Given the description of an element on the screen output the (x, y) to click on. 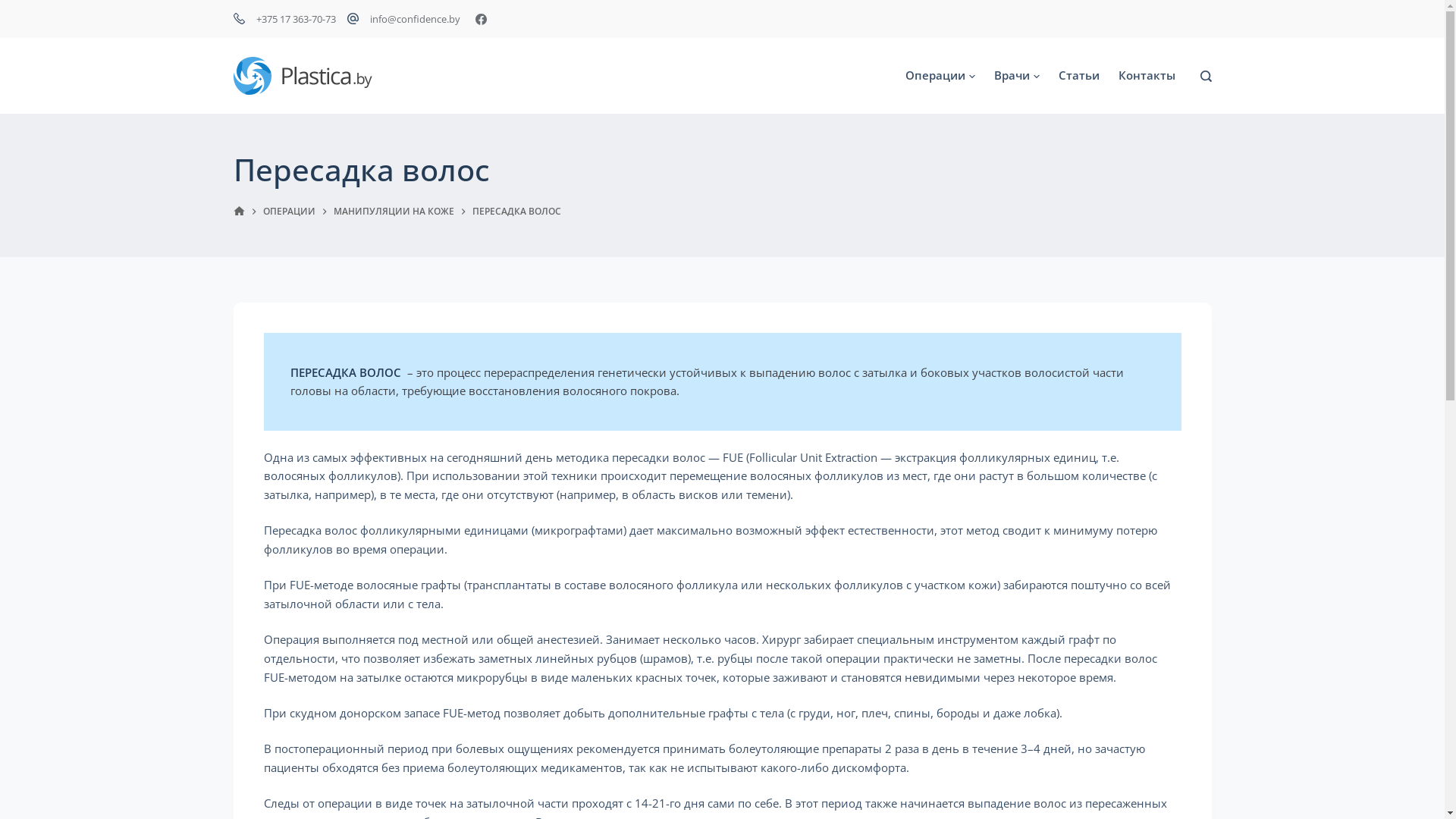
info@confidence.by Element type: text (415, 18)
+375 17 363-70-73 Element type: text (295, 18)
